Given the description of an element on the screen output the (x, y) to click on. 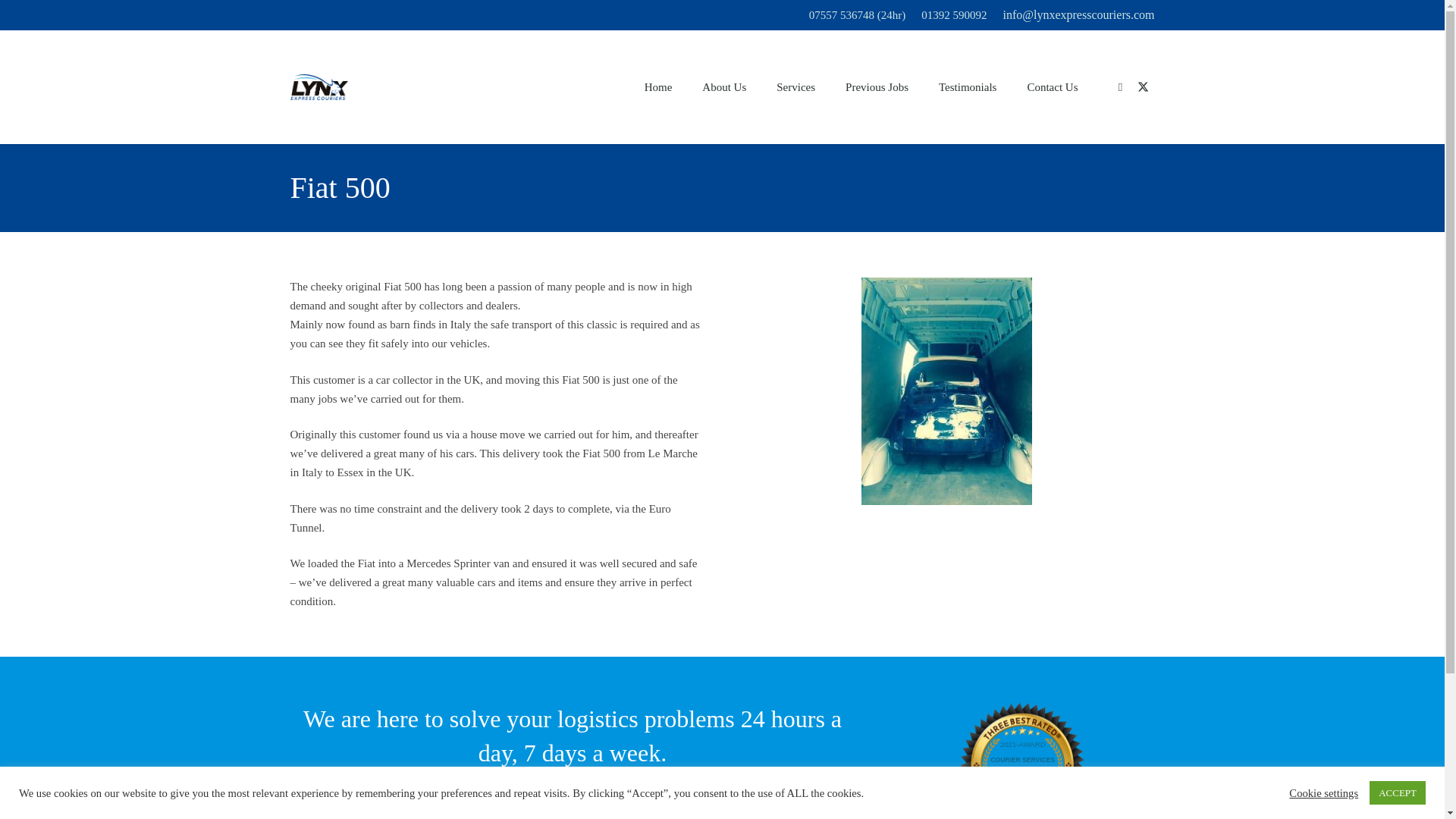
ACCEPT (1397, 792)
Twitter (1143, 87)
Previous Jobs (876, 86)
Fiat 500 (318, 87)
About Us (724, 86)
click here to enquire (677, 786)
Cookie settings (1323, 792)
Testimonials (967, 86)
Home (657, 86)
01392 590092 (954, 15)
Facebook (1120, 87)
01392 590092 (476, 786)
Services (795, 86)
Contact Us (1052, 86)
